Given the description of an element on the screen output the (x, y) to click on. 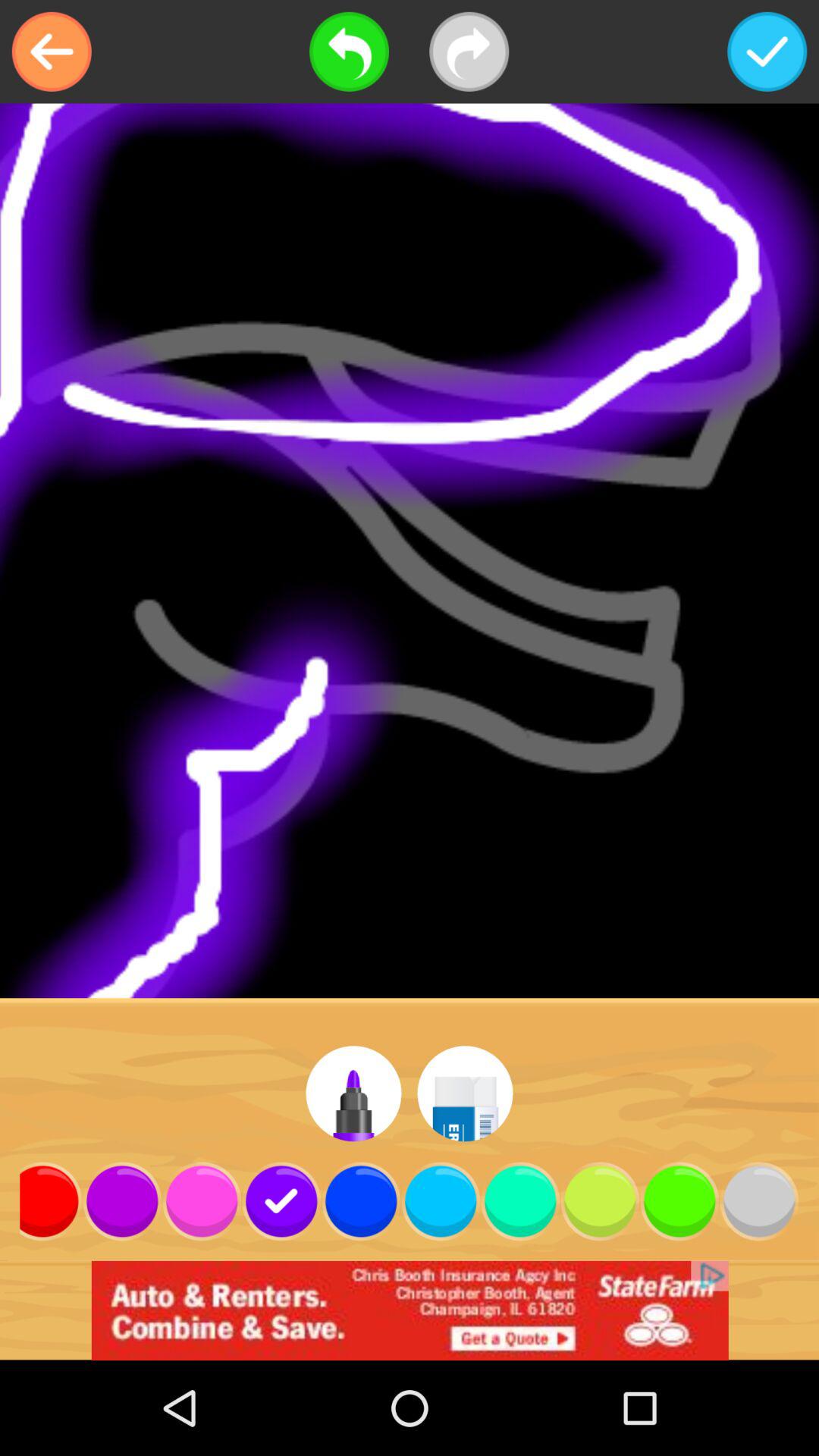
save and complete drawing (767, 51)
